Given the description of an element on the screen output the (x, y) to click on. 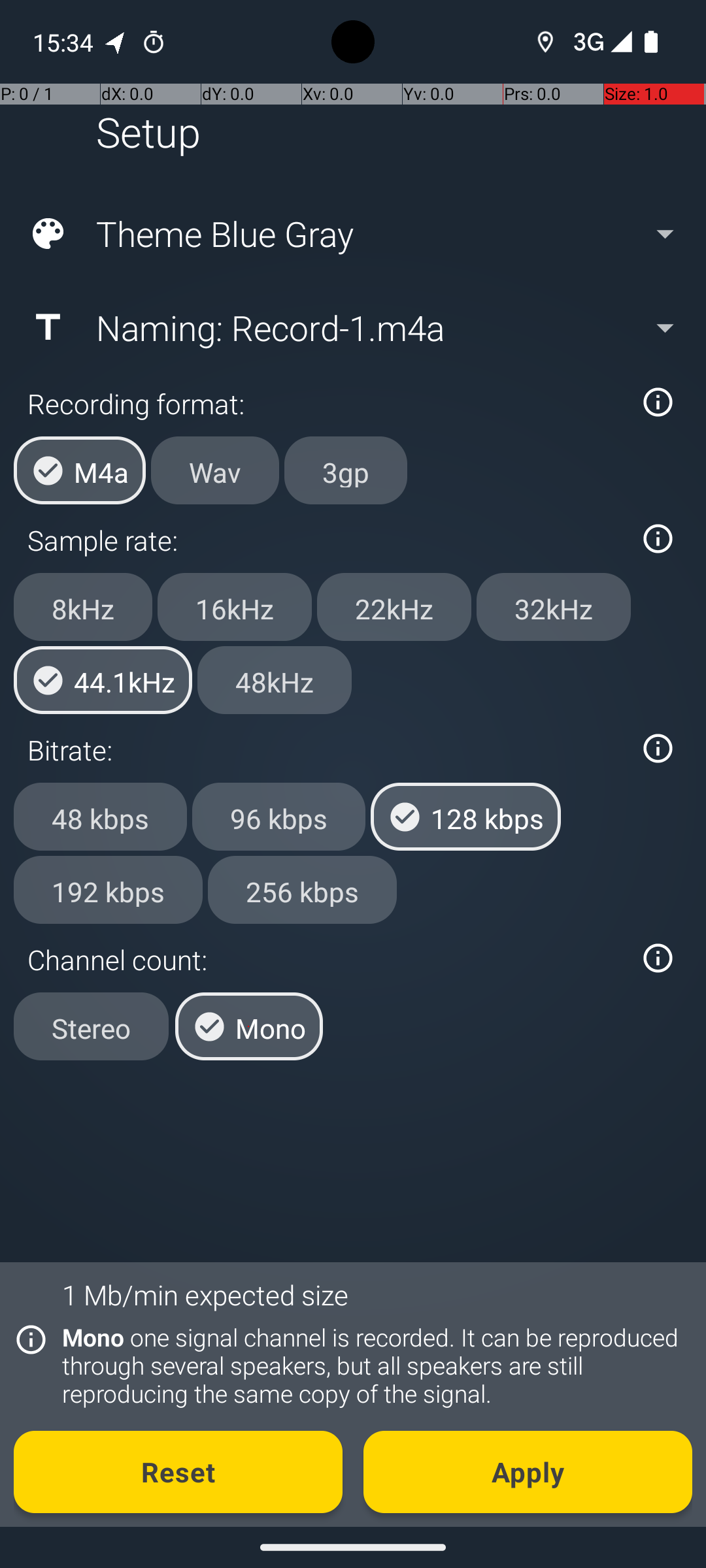
Mono one signal channel is recorded. It can be reproduced through several speakers, but all speakers are still reproducing the same copy of the signal. Element type: android.widget.TextView (370, 1364)
3G Element type: android.widget.ImageView (587, 41)
